Given the description of an element on the screen output the (x, y) to click on. 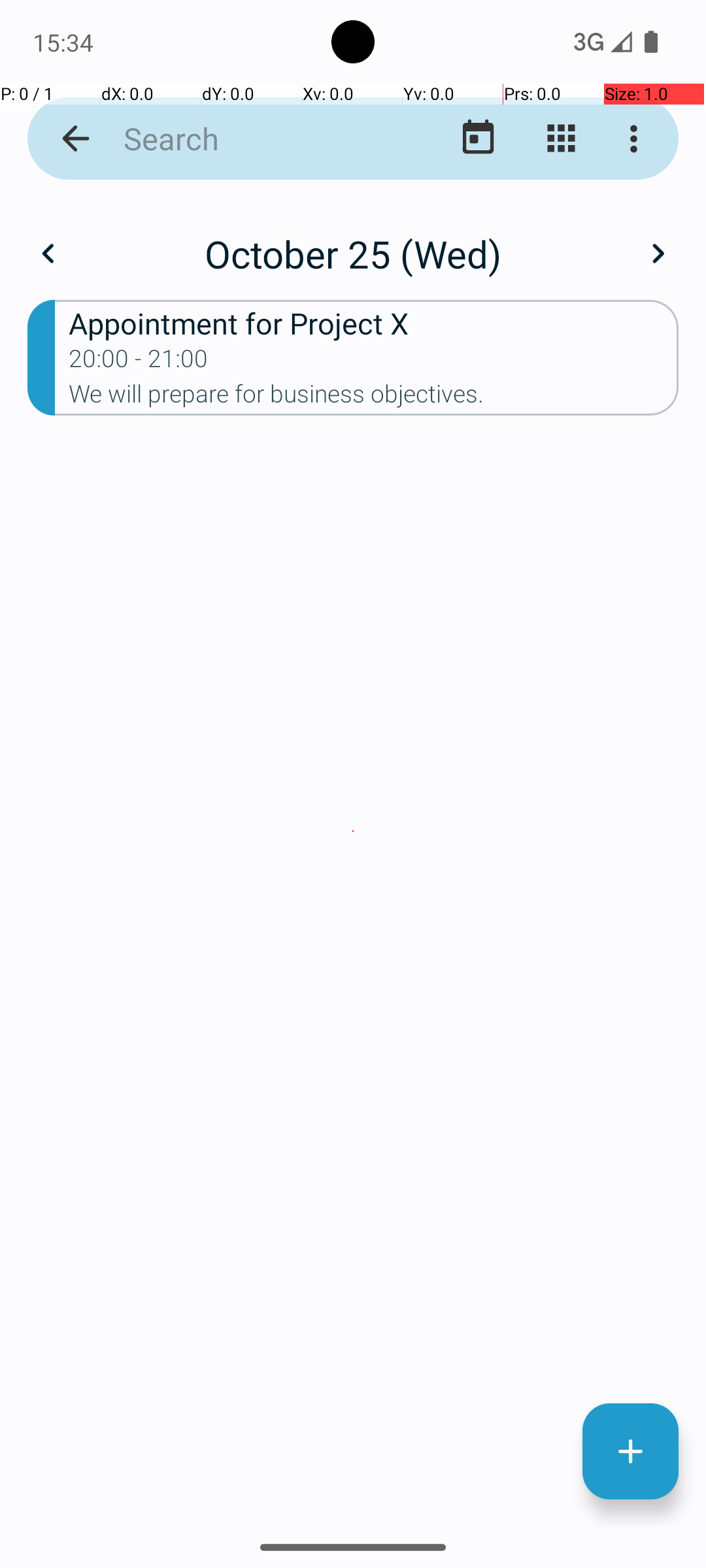
October 25 (Wed) Element type: android.widget.TextView (352, 253)
20:00 - 21:00 Element type: android.widget.TextView (137, 362)
We will prepare for business objectives. Element type: android.widget.TextView (373, 397)
